Given the description of an element on the screen output the (x, y) to click on. 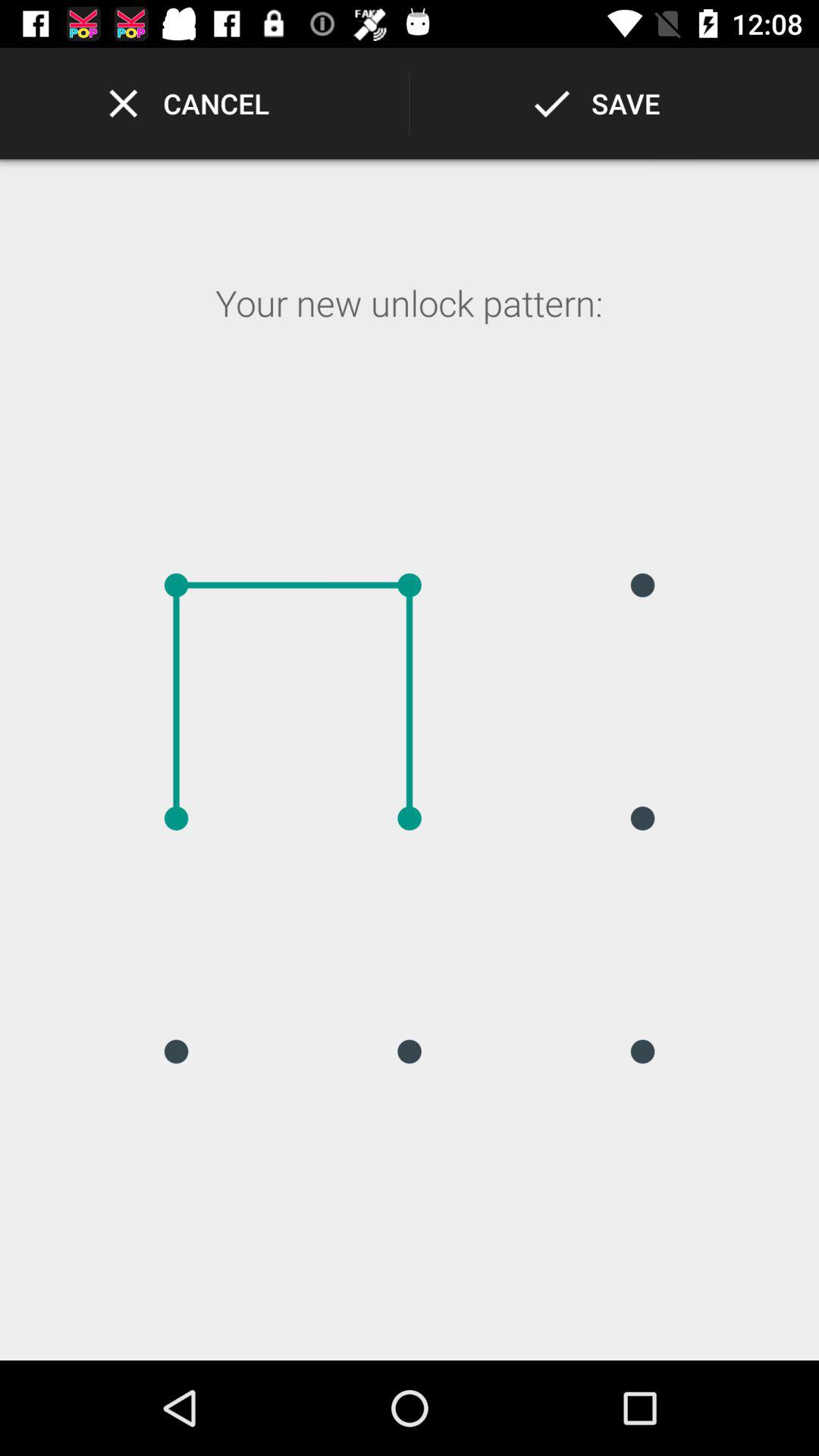
launch item at the center (409, 818)
